Given the description of an element on the screen output the (x, y) to click on. 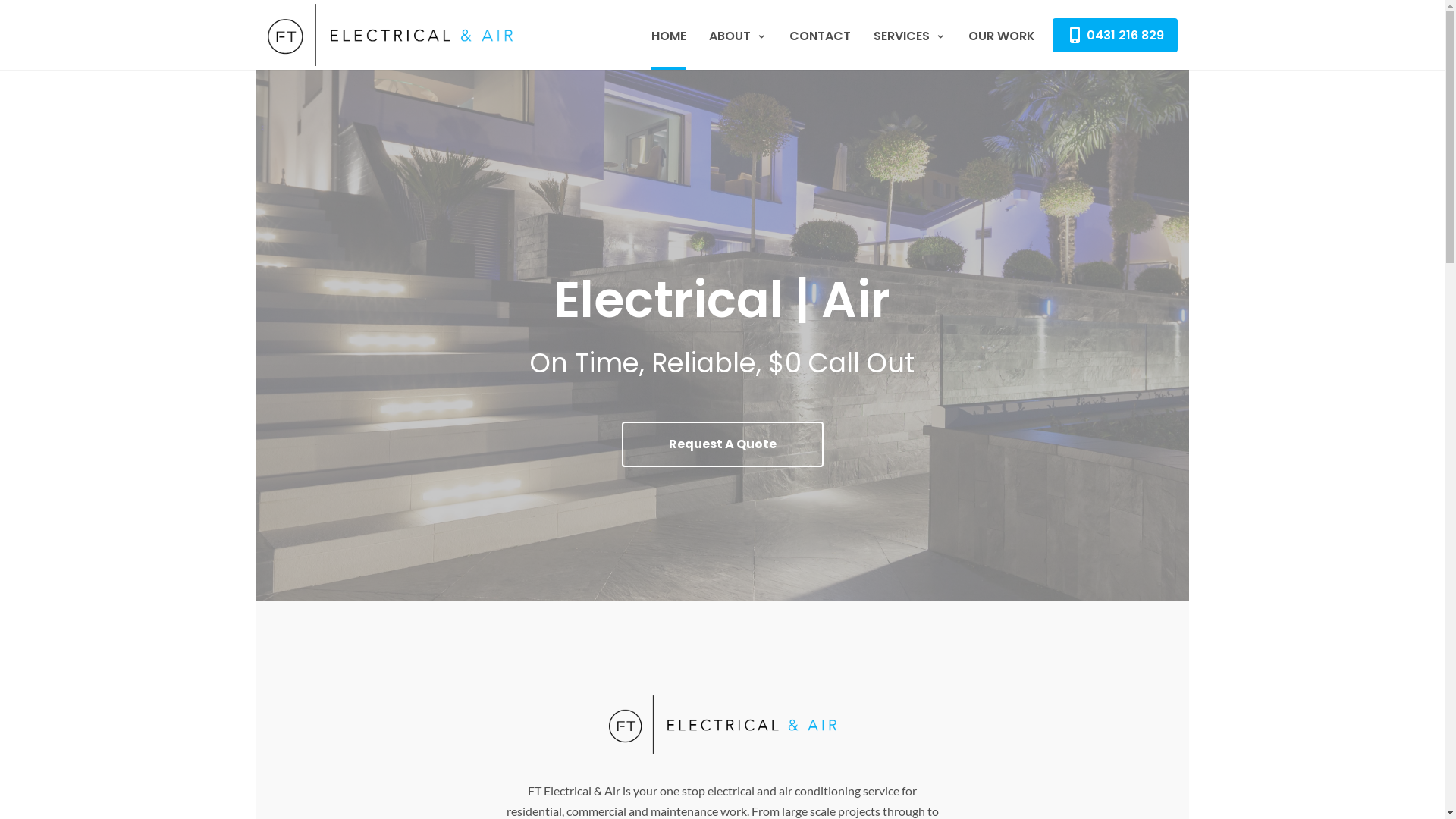
phone_iphone
0431 216 829 Element type: text (1114, 35)
OUR WORK Element type: text (1001, 34)
ABOUT Element type: text (737, 34)
CONTACT Element type: text (820, 34)
HOME Element type: text (668, 34)
Request A Quote Element type: text (722, 444)
SERVICES Element type: text (908, 34)
